Given the description of an element on the screen output the (x, y) to click on. 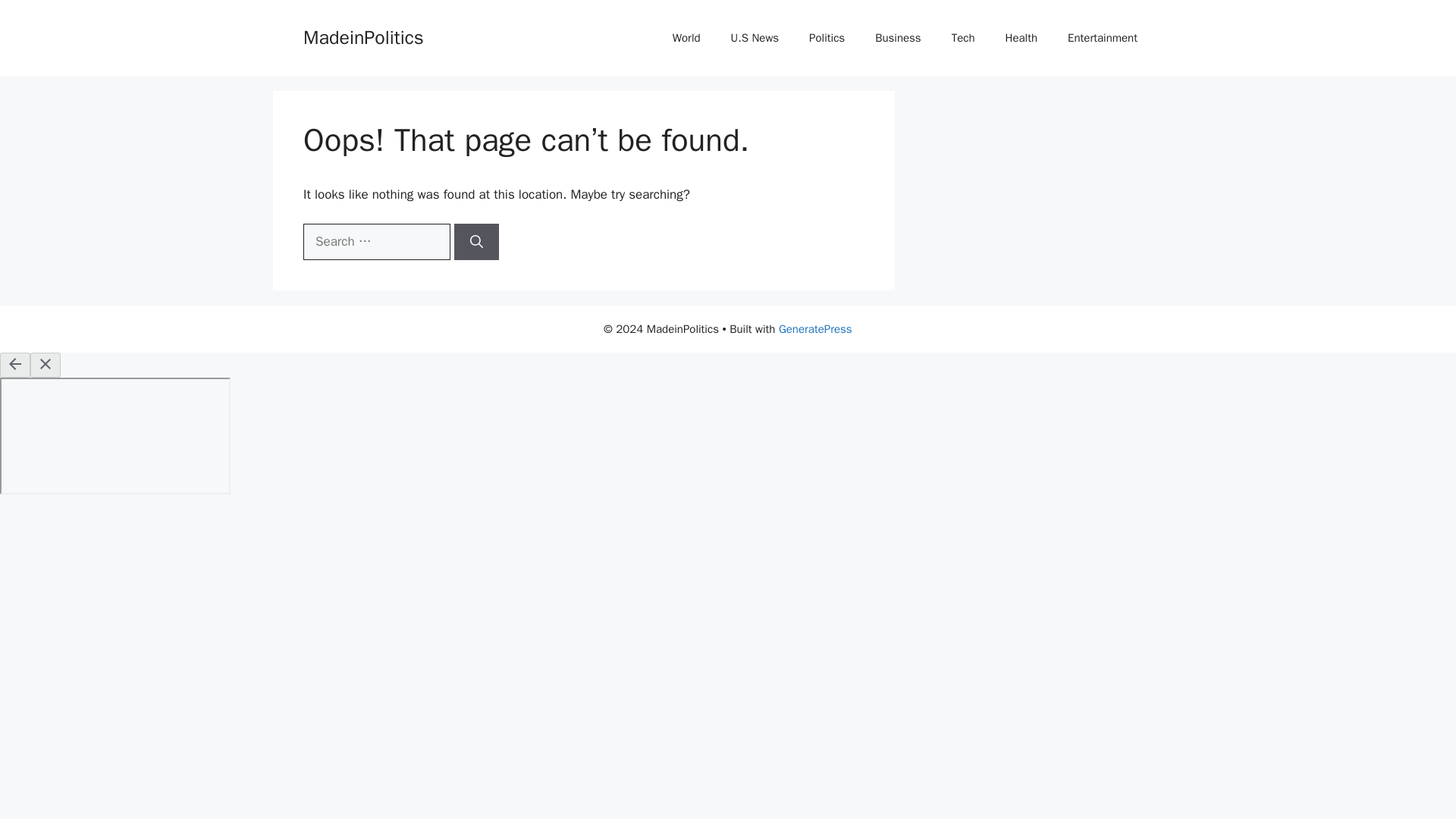
Health (1021, 37)
MadeinPolitics (362, 37)
Politics (826, 37)
World (687, 37)
Business (898, 37)
Search for: (375, 241)
Tech (963, 37)
GeneratePress (814, 328)
U.S News (755, 37)
Entertainment (1102, 37)
